Given the description of an element on the screen output the (x, y) to click on. 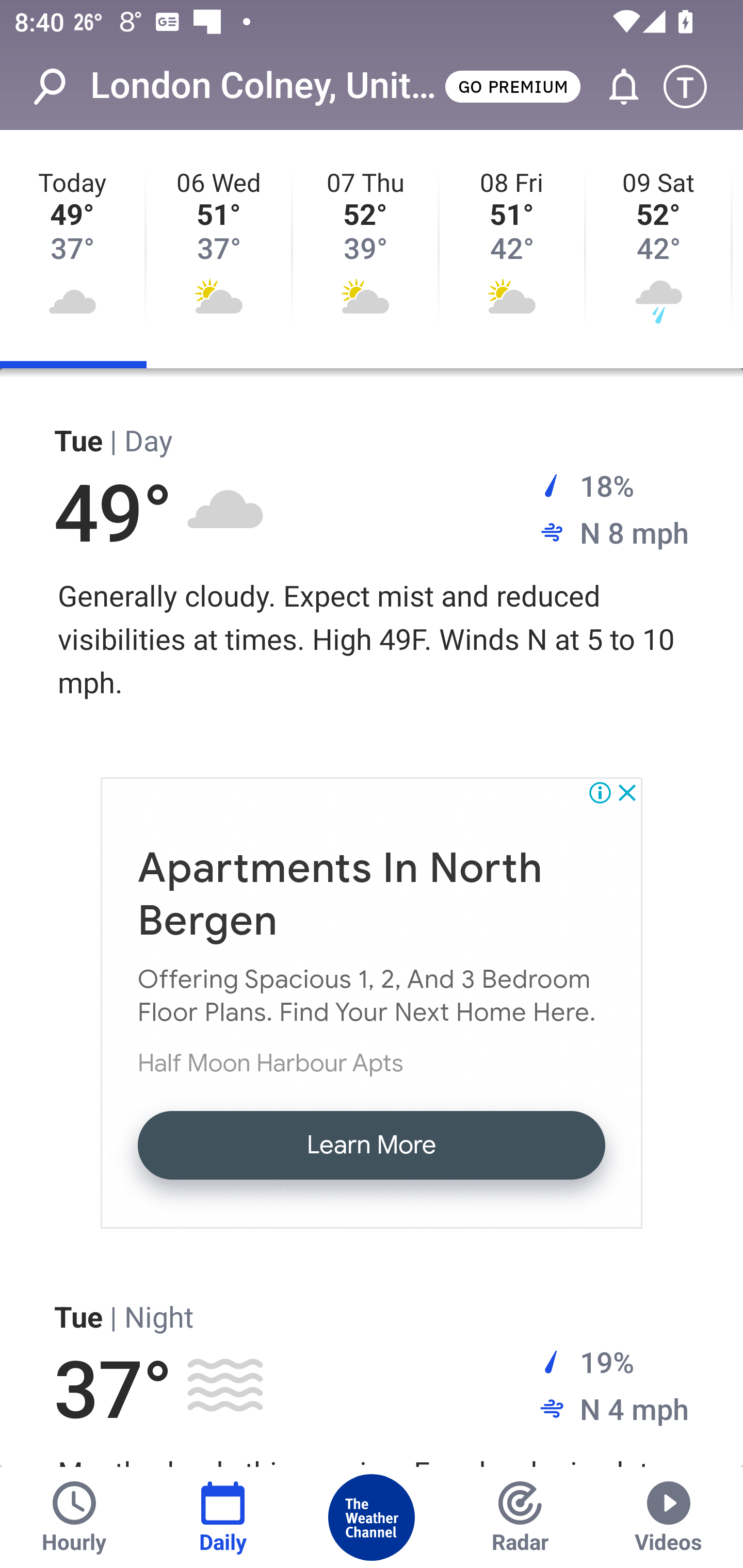
Search (59, 86)
Go to Alerts and Notifications (614, 86)
Setting icon T (694, 86)
London Colney, United Kingdom (265, 85)
GO PREMIUM (512, 85)
Half Moon Harbour Apts (270, 1062)
Learn More (371, 1144)
Hourly Tab Hourly (74, 1517)
Home Tab (371, 1517)
Radar Tab Radar (519, 1517)
Videos Tab Videos (668, 1517)
